Given the description of an element on the screen output the (x, y) to click on. 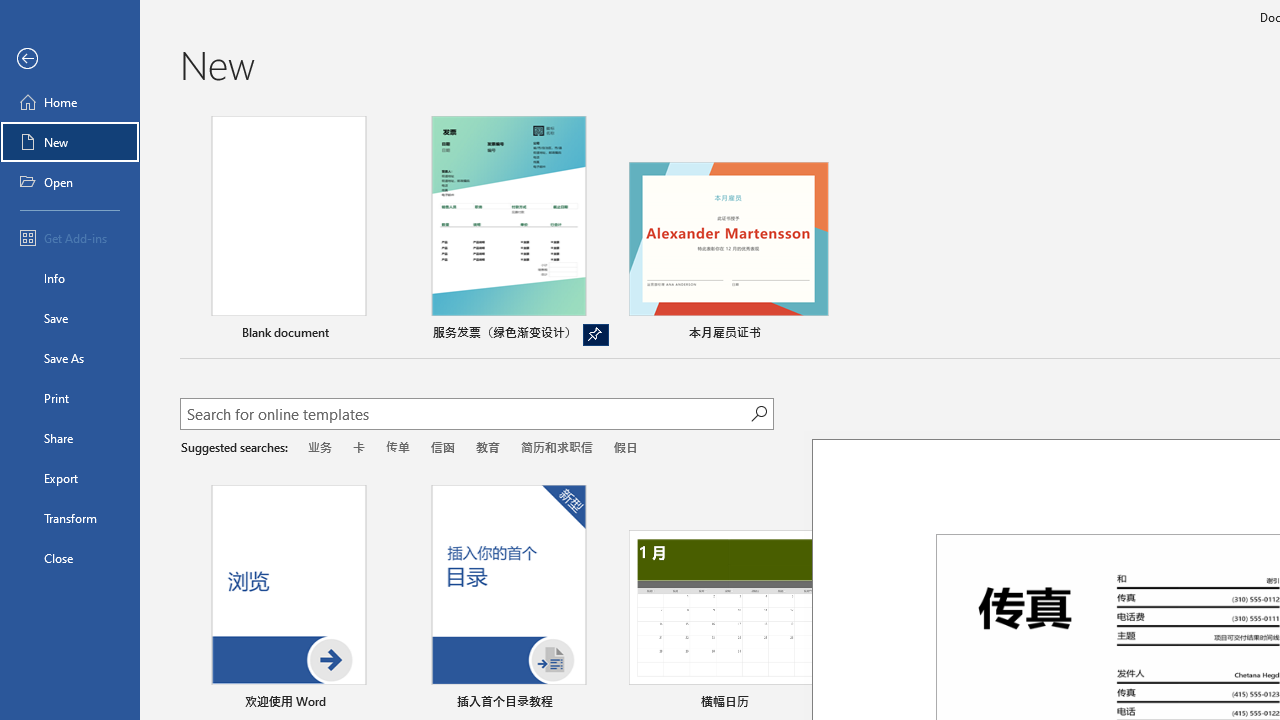
Transform (69, 517)
Search for online templates (465, 416)
Print (69, 398)
Open (69, 182)
Unpin from list (595, 335)
Pin to list (1255, 703)
